Given the description of an element on the screen output the (x, y) to click on. 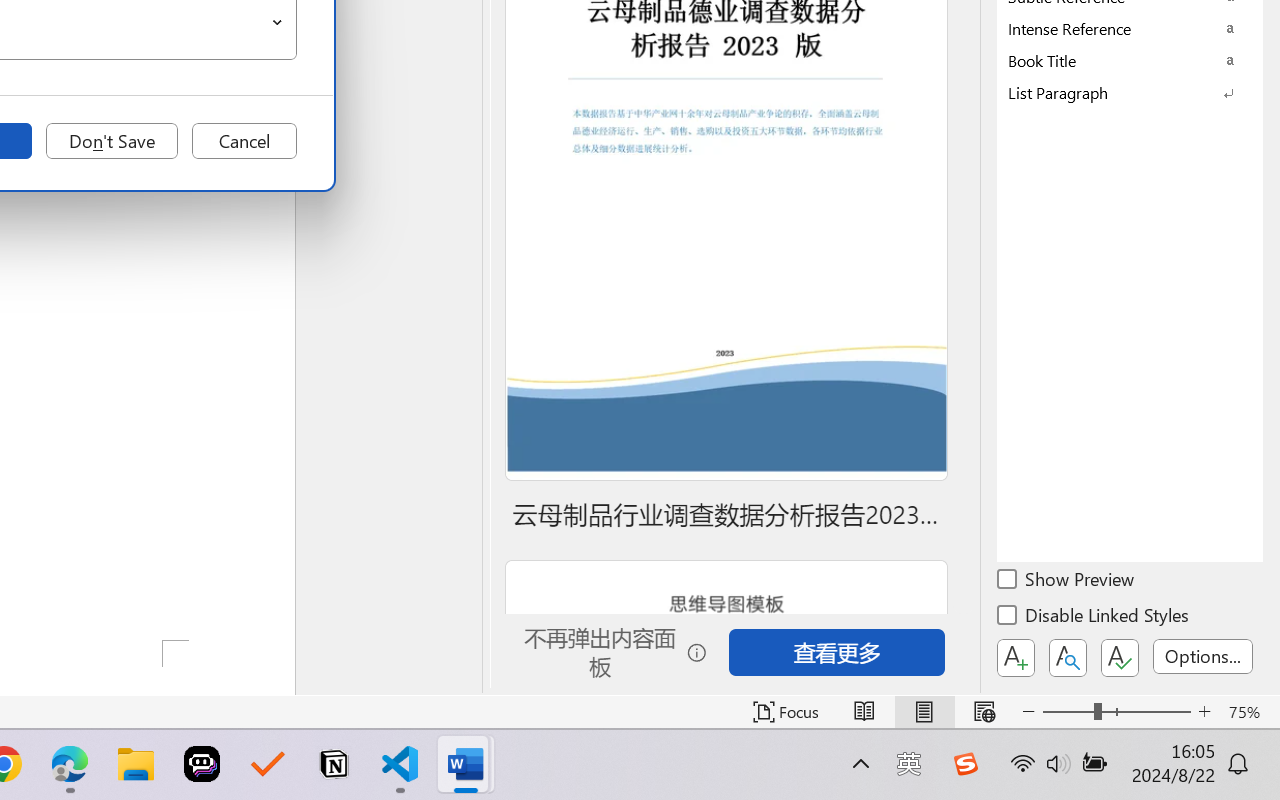
Poe (201, 764)
Notion (333, 764)
Print Layout (924, 712)
Show Preview (1067, 582)
Focus  (786, 712)
Disable Linked Styles (1094, 618)
